Given the description of an element on the screen output the (x, y) to click on. 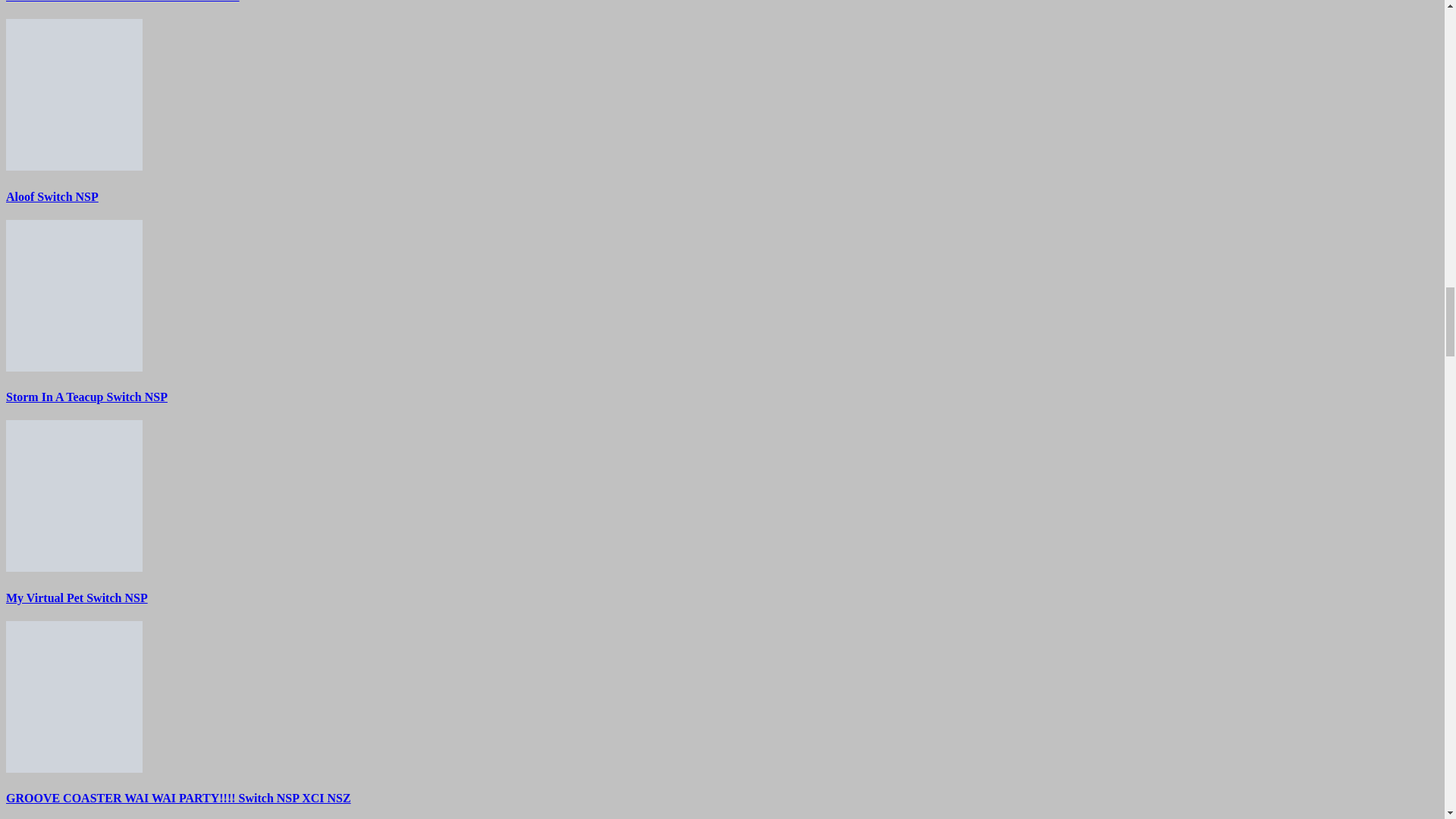
Aloof Switch NSP (52, 196)
Aloof Switch NSP (73, 94)
